Given the description of an element on the screen output the (x, y) to click on. 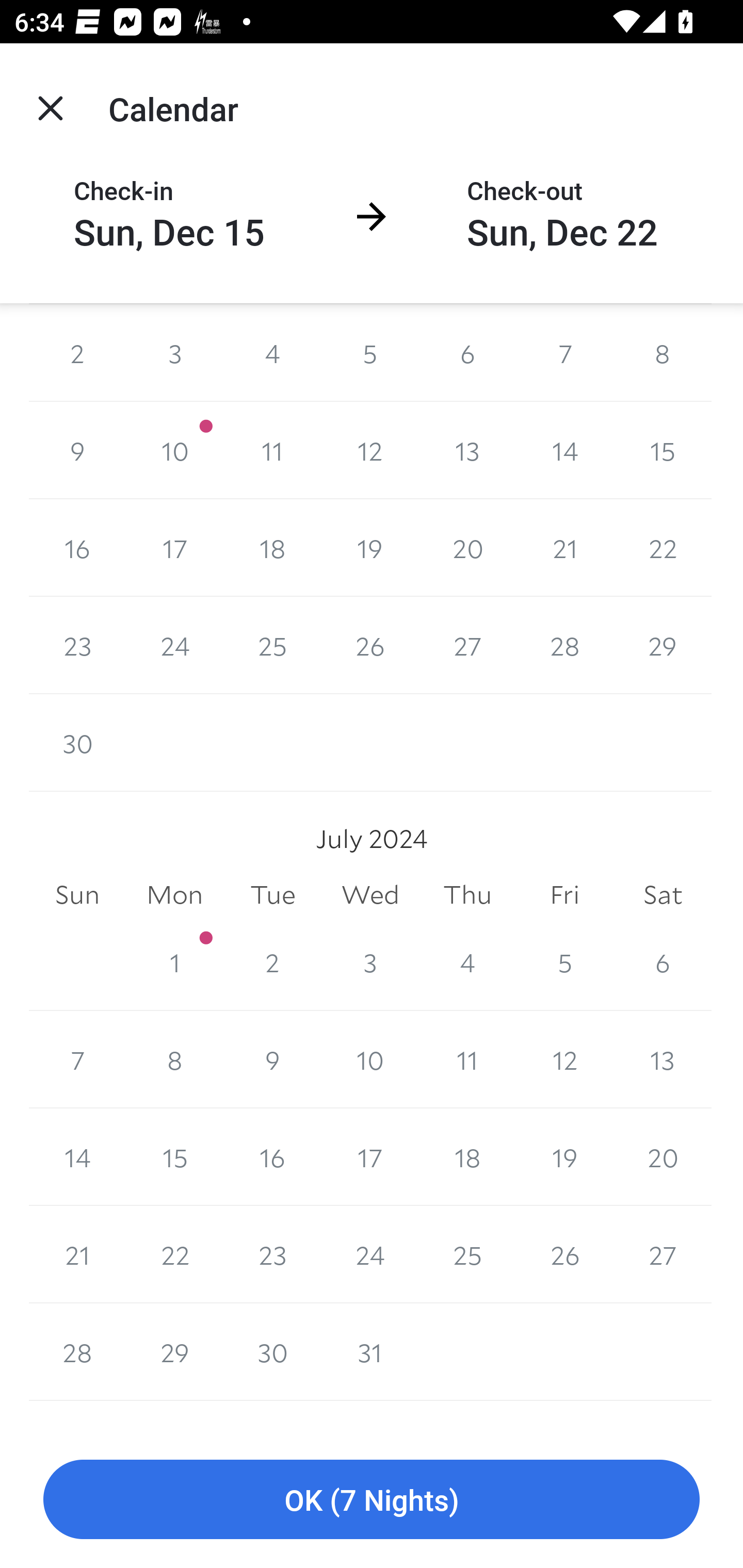
2 2 June 2024 (77, 352)
3 3 June 2024 (174, 352)
4 4 June 2024 (272, 352)
5 5 June 2024 (370, 352)
6 6 June 2024 (467, 352)
7 7 June 2024 (564, 352)
8 8 June 2024 (662, 352)
9 9 June 2024 (77, 449)
10 10 June 2024 (174, 449)
11 11 June 2024 (272, 449)
12 12 June 2024 (370, 449)
13 13 June 2024 (467, 449)
14 14 June 2024 (564, 449)
15 15 June 2024 (662, 449)
16 16 June 2024 (77, 547)
17 17 June 2024 (174, 547)
18 18 June 2024 (272, 547)
19 19 June 2024 (370, 547)
20 20 June 2024 (467, 547)
21 21 June 2024 (564, 547)
22 22 June 2024 (662, 547)
23 23 June 2024 (77, 645)
24 24 June 2024 (174, 645)
25 25 June 2024 (272, 645)
26 26 June 2024 (370, 645)
27 27 June 2024 (467, 645)
28 28 June 2024 (564, 645)
29 29 June 2024 (662, 645)
30 30 June 2024 (77, 742)
Sun (77, 895)
Mon (174, 895)
Tue (272, 895)
Wed (370, 895)
Thu (467, 895)
Fri (564, 895)
Sat (662, 895)
1 1 July 2024 (174, 962)
2 2 July 2024 (272, 962)
3 3 July 2024 (370, 962)
4 4 July 2024 (467, 962)
5 5 July 2024 (564, 962)
6 6 July 2024 (662, 962)
7 7 July 2024 (77, 1059)
8 8 July 2024 (174, 1059)
9 9 July 2024 (272, 1059)
10 10 July 2024 (370, 1059)
11 11 July 2024 (467, 1059)
12 12 July 2024 (564, 1059)
13 13 July 2024 (662, 1059)
